Given the description of an element on the screen output the (x, y) to click on. 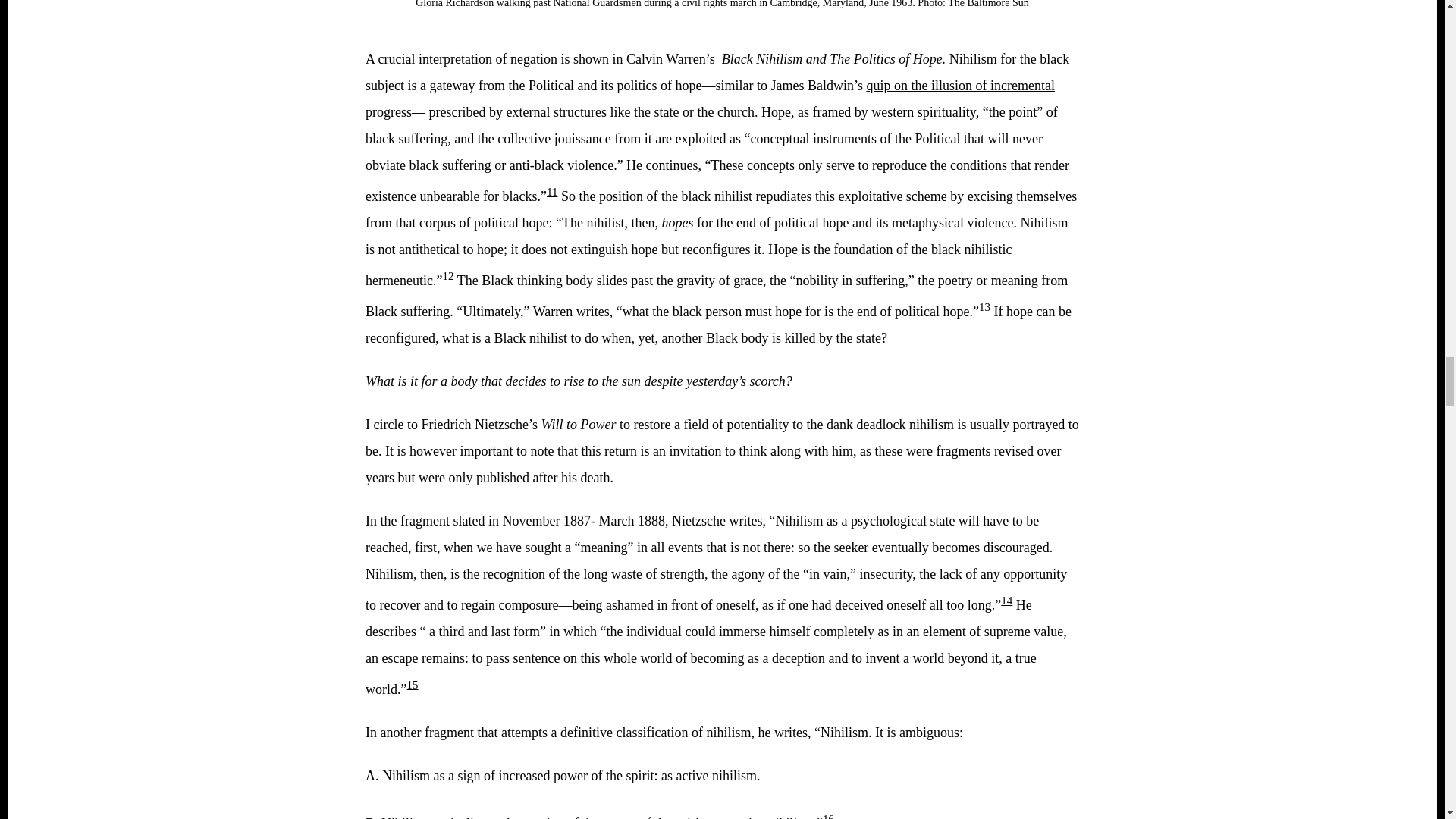
13 (984, 306)
Ibid., 45. (413, 684)
Ibid., 32 (984, 306)
Ibid., 31 (448, 275)
15 (413, 684)
Ibid.,50 (828, 816)
12 (448, 275)
14 (1006, 600)
16 (828, 816)
quip on the illusion of incremental progress (709, 98)
